Given the description of an element on the screen output the (x, y) to click on. 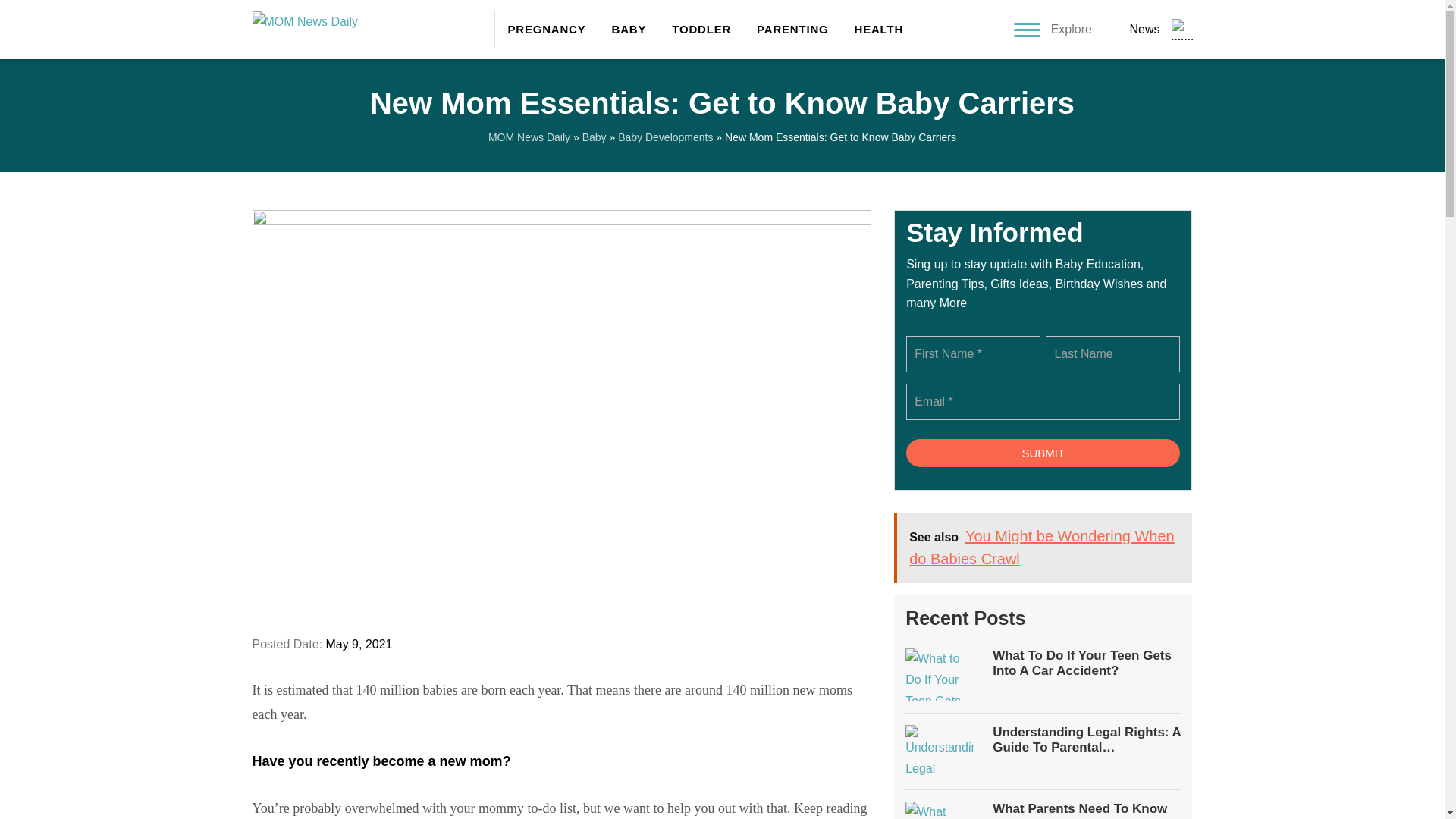
PREGNANCY (546, 29)
MOM News Daily (528, 137)
BABY (628, 29)
TODDLER (701, 29)
Baby (594, 137)
HEALTH (872, 29)
News (1143, 29)
Baby Developments (665, 137)
PARENTING (792, 29)
